Given the description of an element on the screen output the (x, y) to click on. 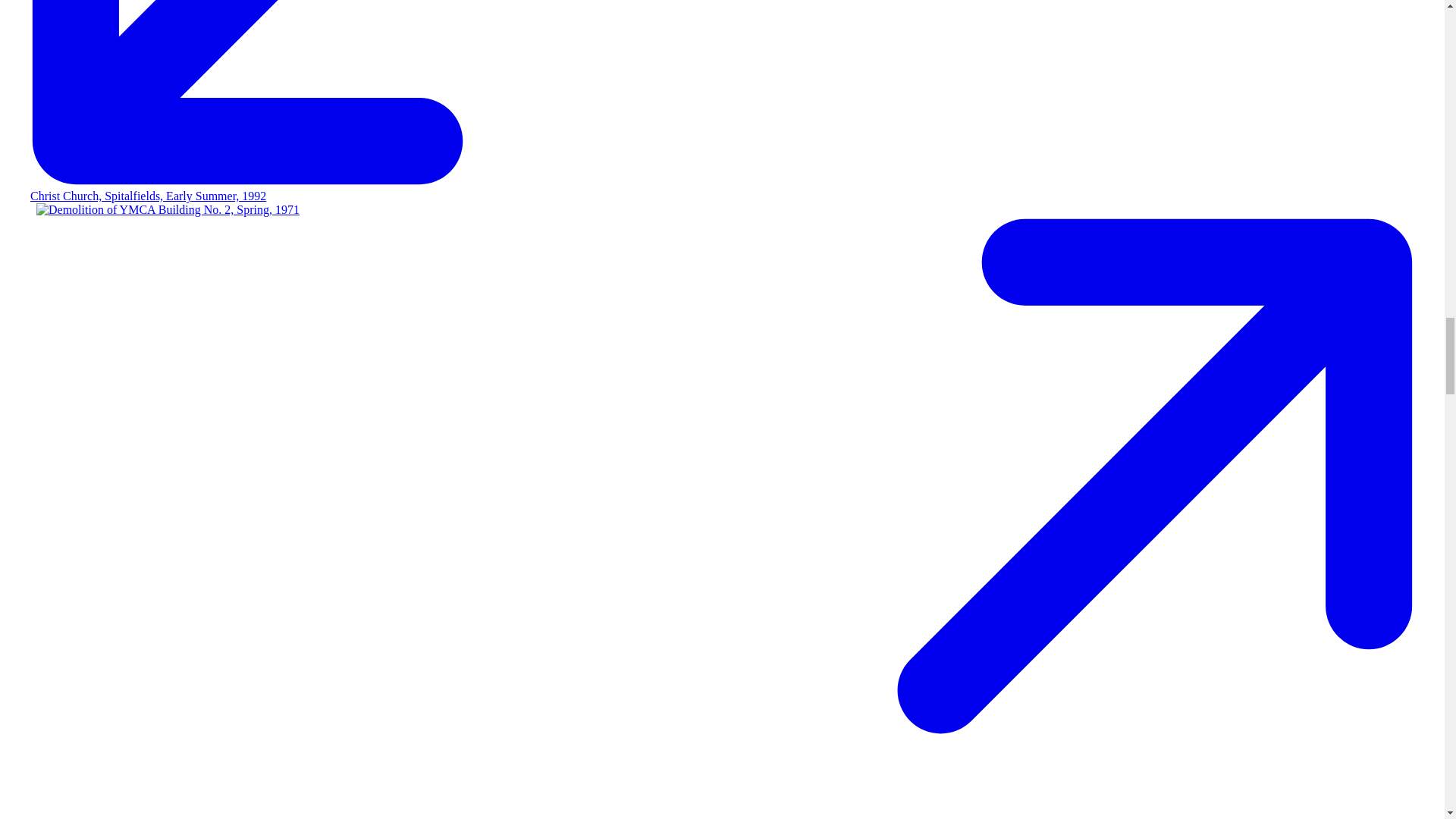
Demolition of YMCA Building No. 2, Spring, 1971 (167, 210)
Christ Church, Spitalfields, Early Summer, 1992 (148, 195)
